Given the description of an element on the screen output the (x, y) to click on. 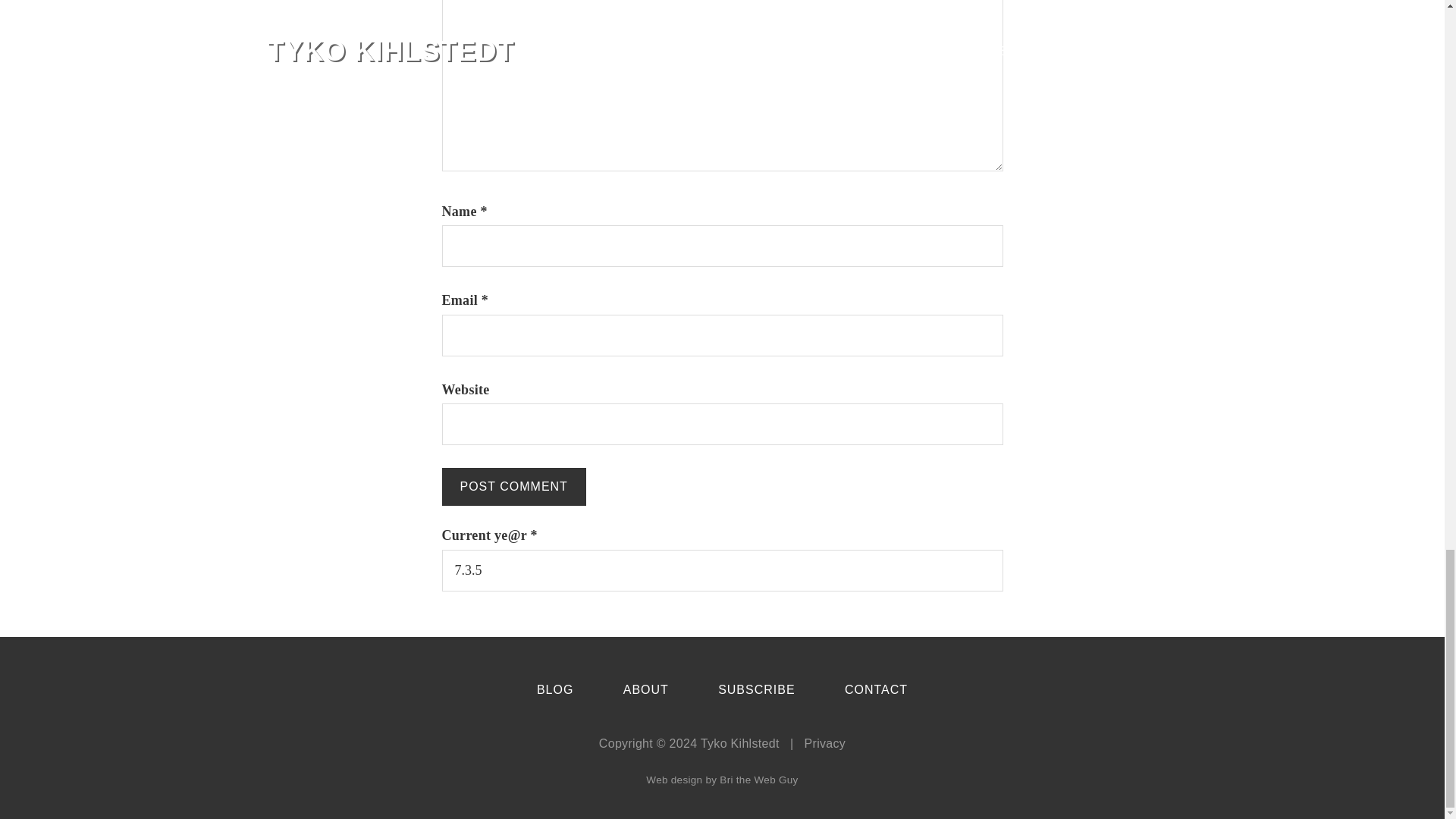
Post Comment (513, 486)
BLOG (555, 689)
SUBSCRIBE (755, 689)
CONTACT (875, 689)
Post Comment (513, 486)
ABOUT (645, 689)
7.3.5 (722, 570)
Privacy (825, 743)
Bri the Web Guy (758, 779)
